Given the description of an element on the screen output the (x, y) to click on. 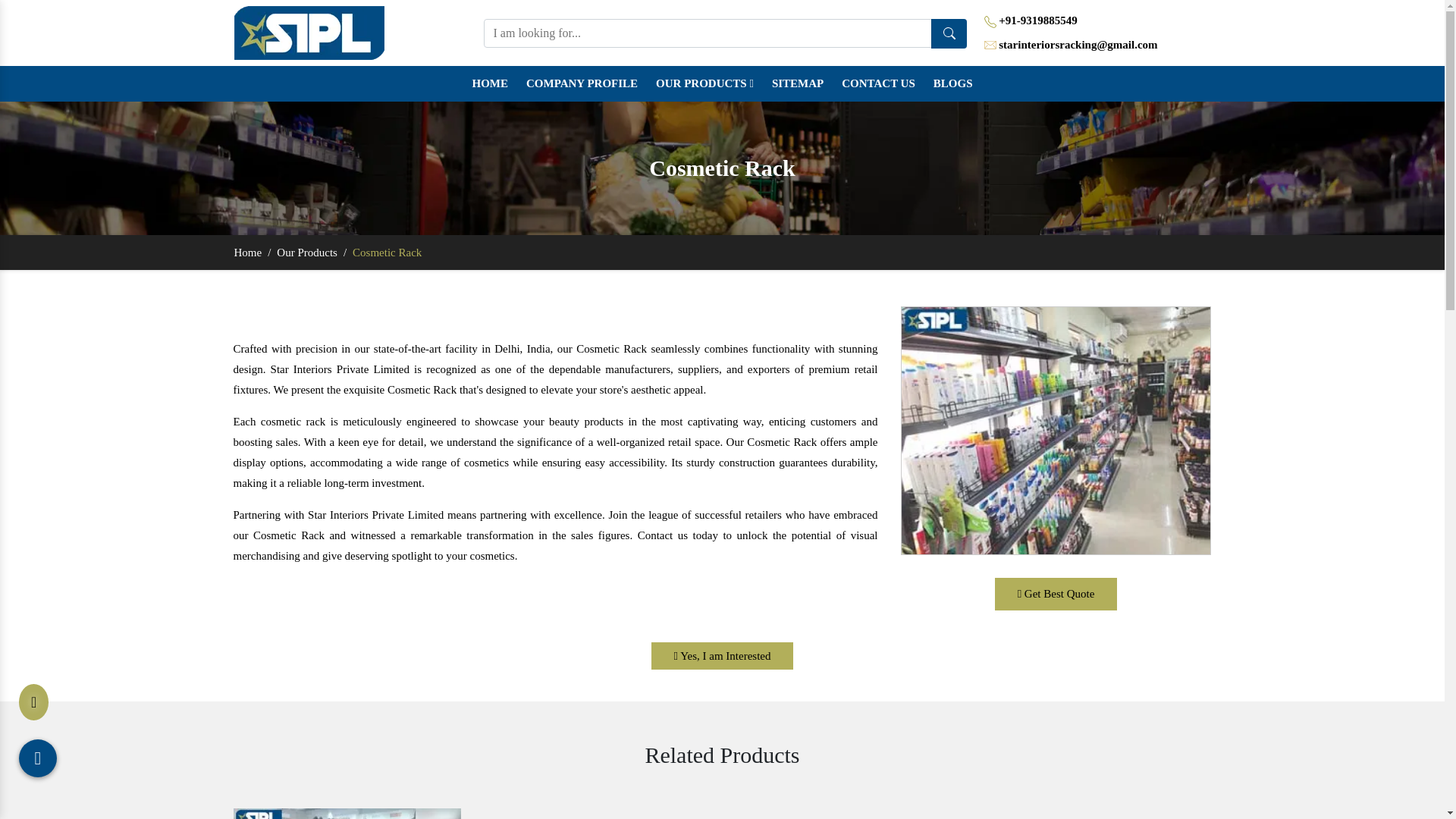
OUR PRODUCTS (704, 83)
HOME (489, 83)
COMPANY PROFILE (581, 83)
Star Interiors Private Limited (308, 32)
Home (489, 83)
Search Here (948, 32)
Mail Us (989, 44)
